Given the description of an element on the screen output the (x, y) to click on. 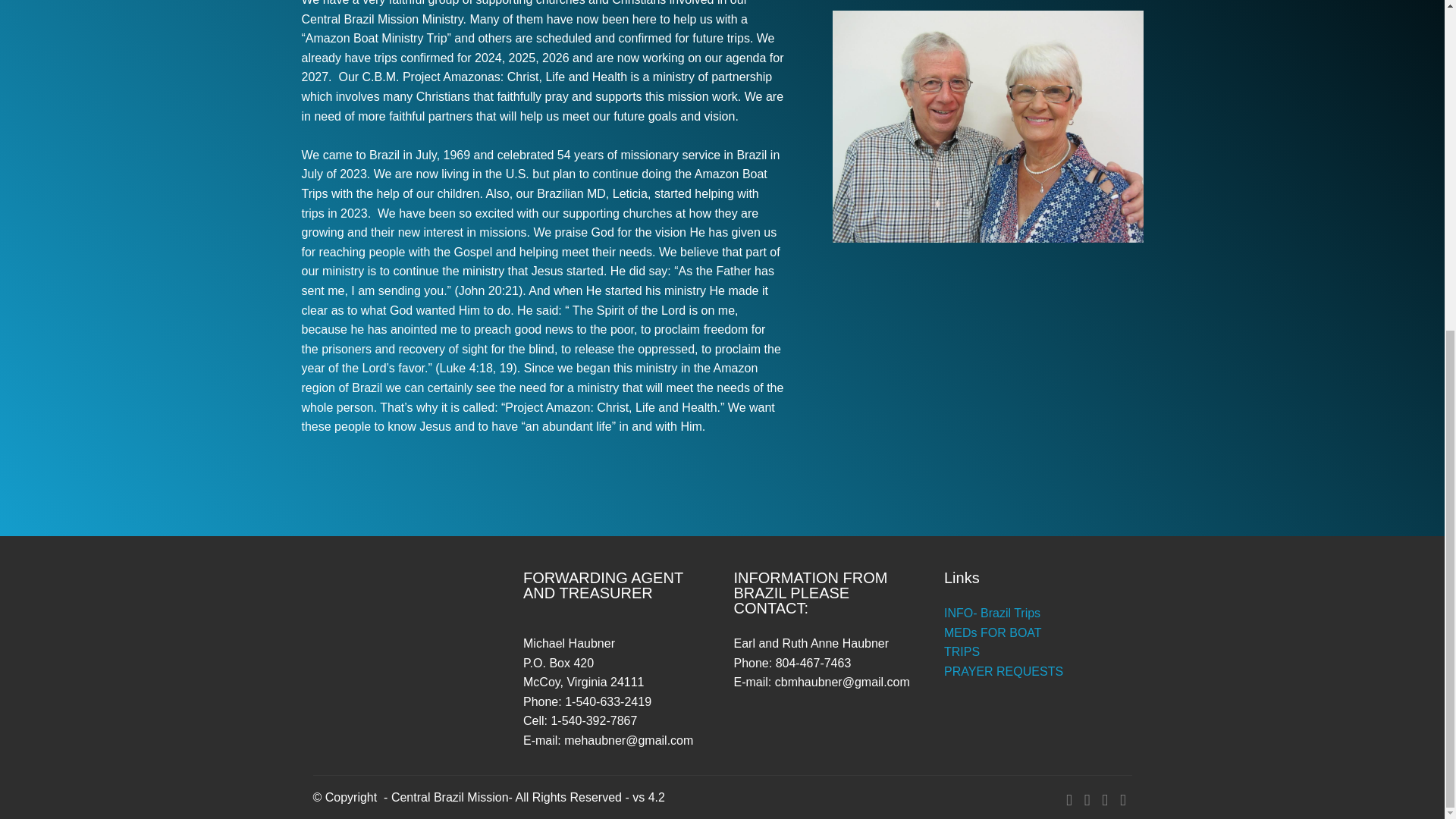
TRIPS (961, 651)
INFO- Brazil Trips (992, 612)
PRAYER REQUESTS (1002, 671)
MEDs FOR BOAT (992, 632)
